Given the description of an element on the screen output the (x, y) to click on. 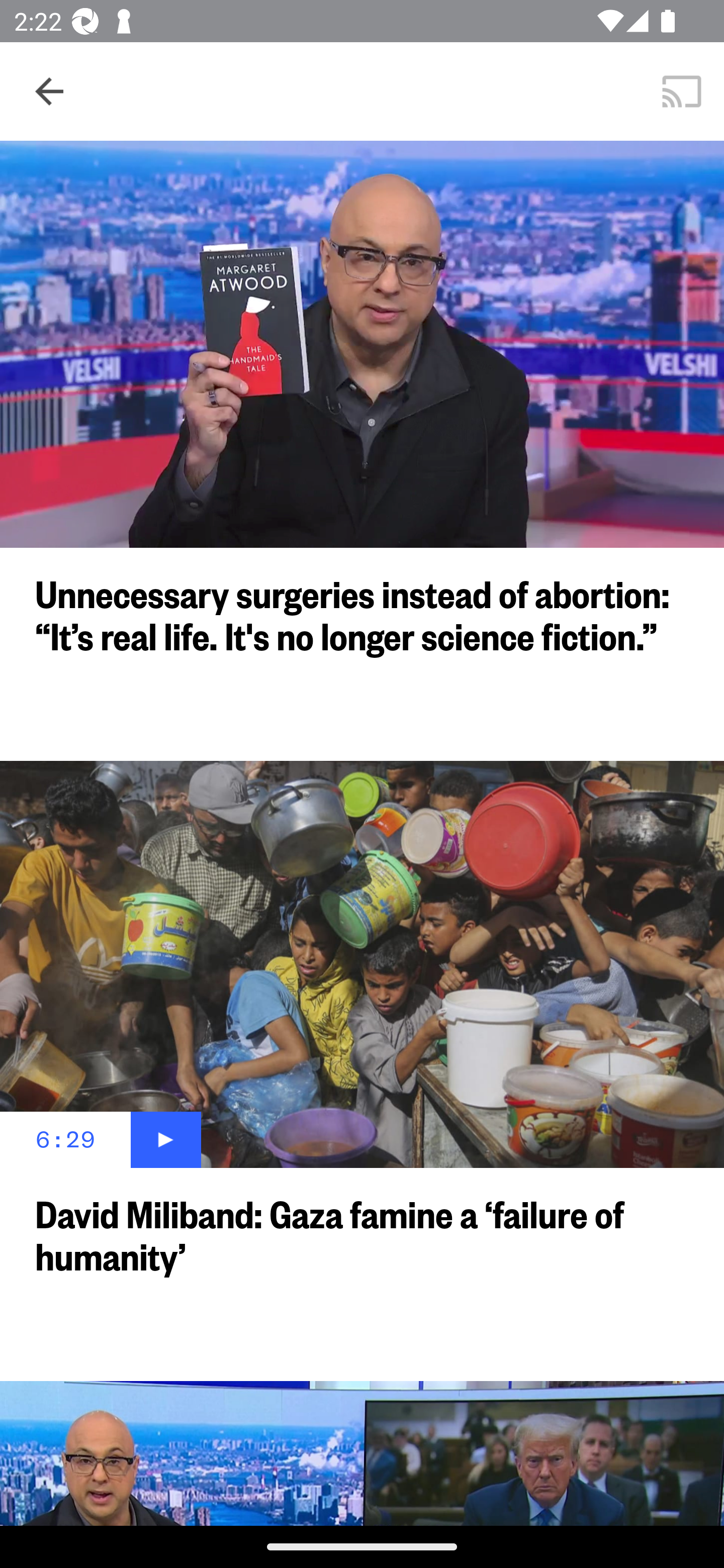
Navigate up (49, 91)
Cast. Disconnected (681, 90)
